Given the description of an element on the screen output the (x, y) to click on. 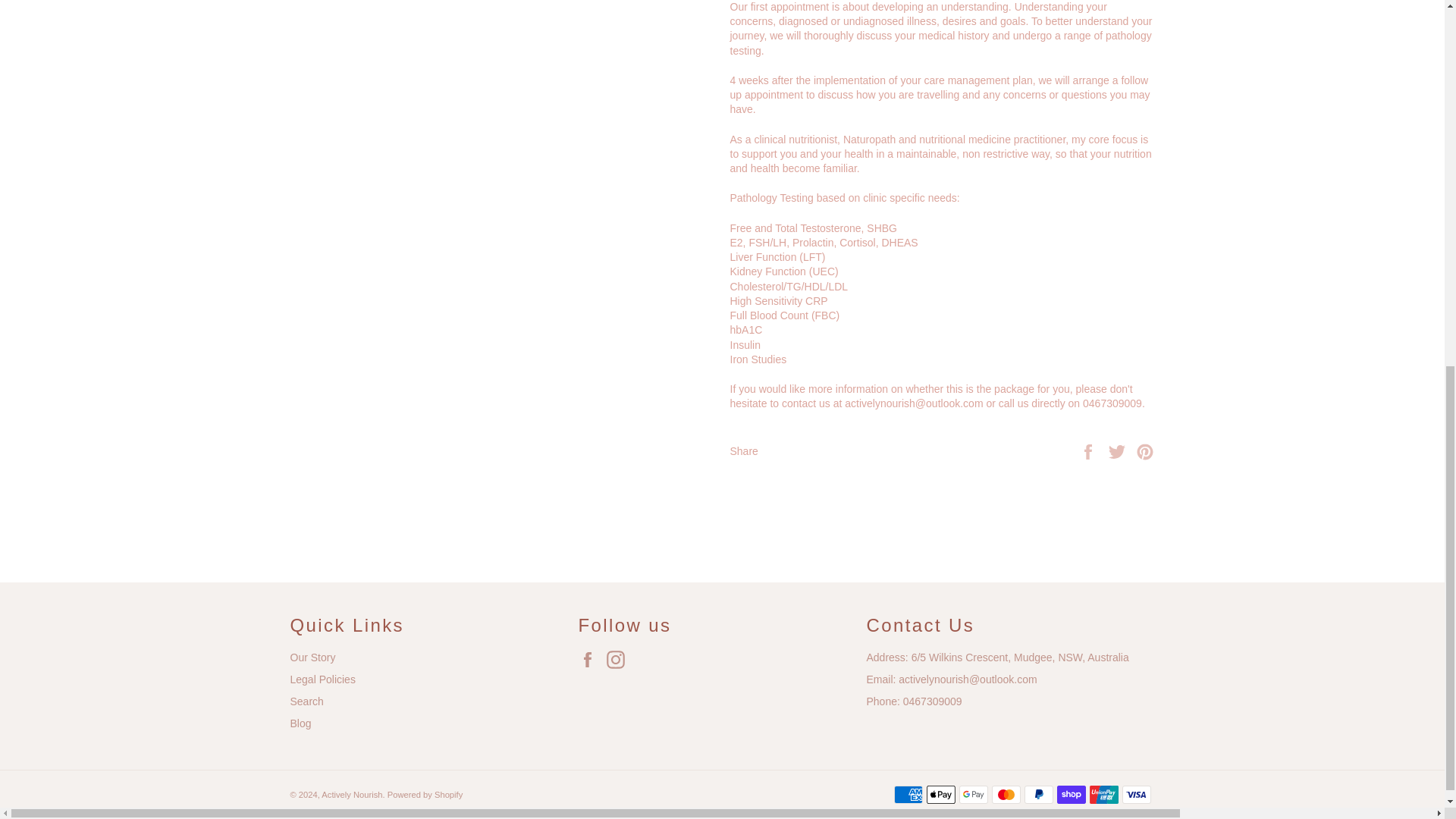
Legal Policies (322, 679)
Share on Facebook (1089, 450)
Our Story (311, 657)
Tweet on Twitter (1118, 450)
Actively Nourish on Facebook (591, 659)
Instagram (619, 659)
Actively Nourish (351, 794)
Search (306, 701)
Pin on Pinterest (1144, 450)
Actively Nourish on Instagram (619, 659)
